Given the description of an element on the screen output the (x, y) to click on. 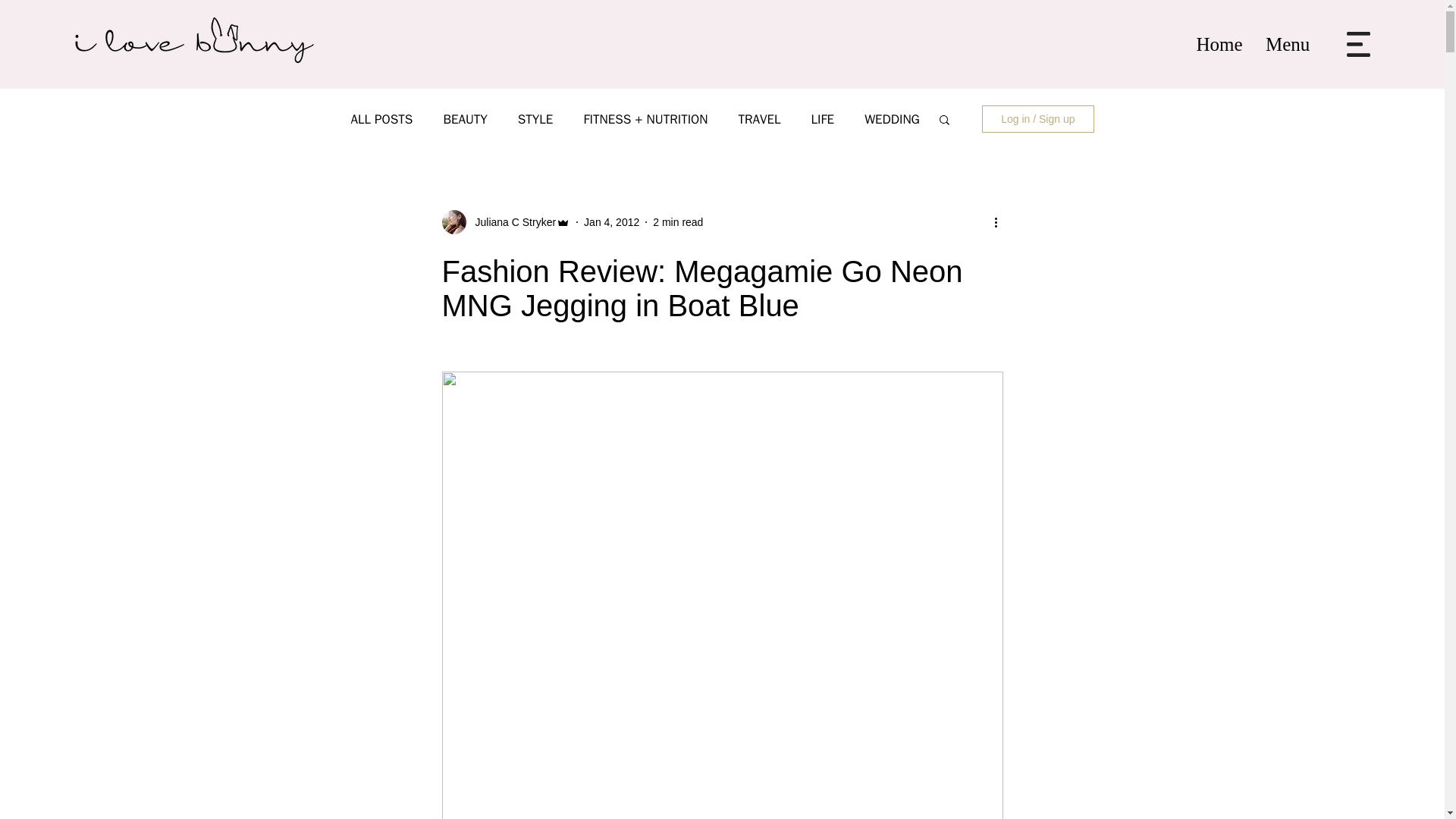
Jan 4, 2012 (611, 221)
Home (1219, 43)
TRAVEL (759, 118)
WEDDING (892, 118)
2 min read (677, 221)
LIFE (822, 118)
BEAUTY (464, 118)
STYLE (535, 118)
Juliana C Stryker (510, 221)
ALL POSTS (381, 118)
